Given the description of an element on the screen output the (x, y) to click on. 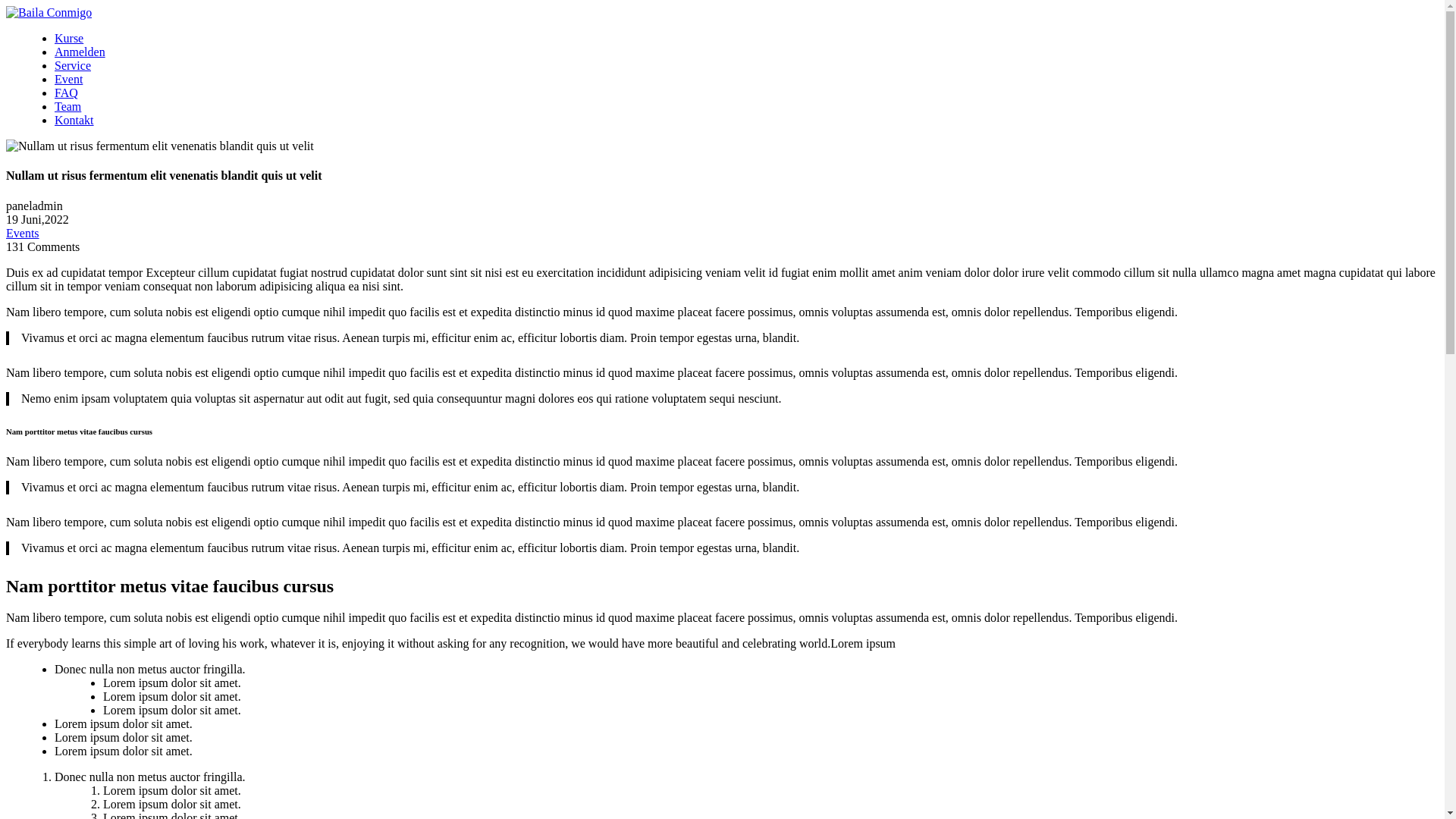
FAQ Element type: text (66, 92)
Event Element type: text (68, 78)
Anmelden Element type: text (79, 51)
Baila Conmigo Element type: hover (48, 12)
Kurse Element type: text (68, 37)
Service Element type: text (72, 65)
Kontakt Element type: text (74, 119)
Events Element type: text (22, 232)
Team Element type: text (67, 106)
